Given the description of an element on the screen output the (x, y) to click on. 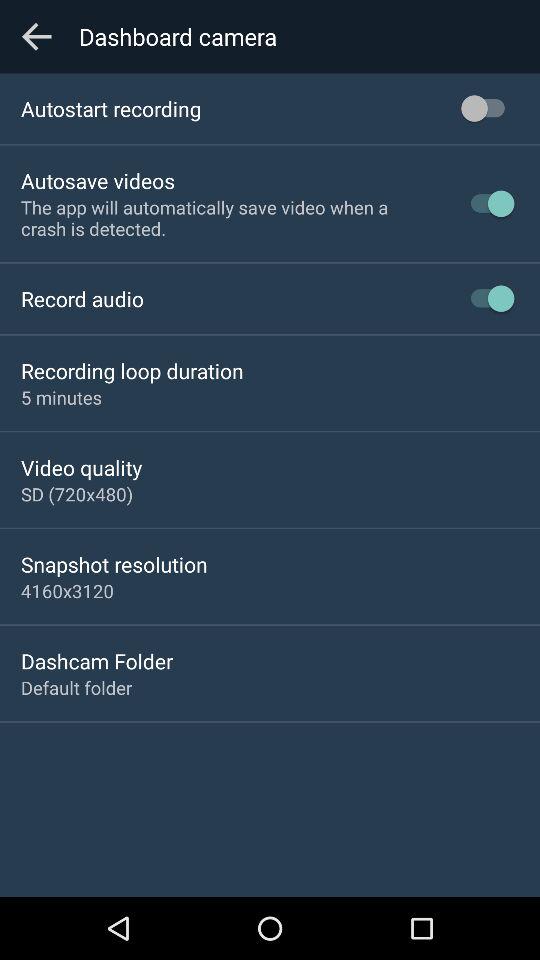
tap the app will at the top (228, 218)
